Given the description of an element on the screen output the (x, y) to click on. 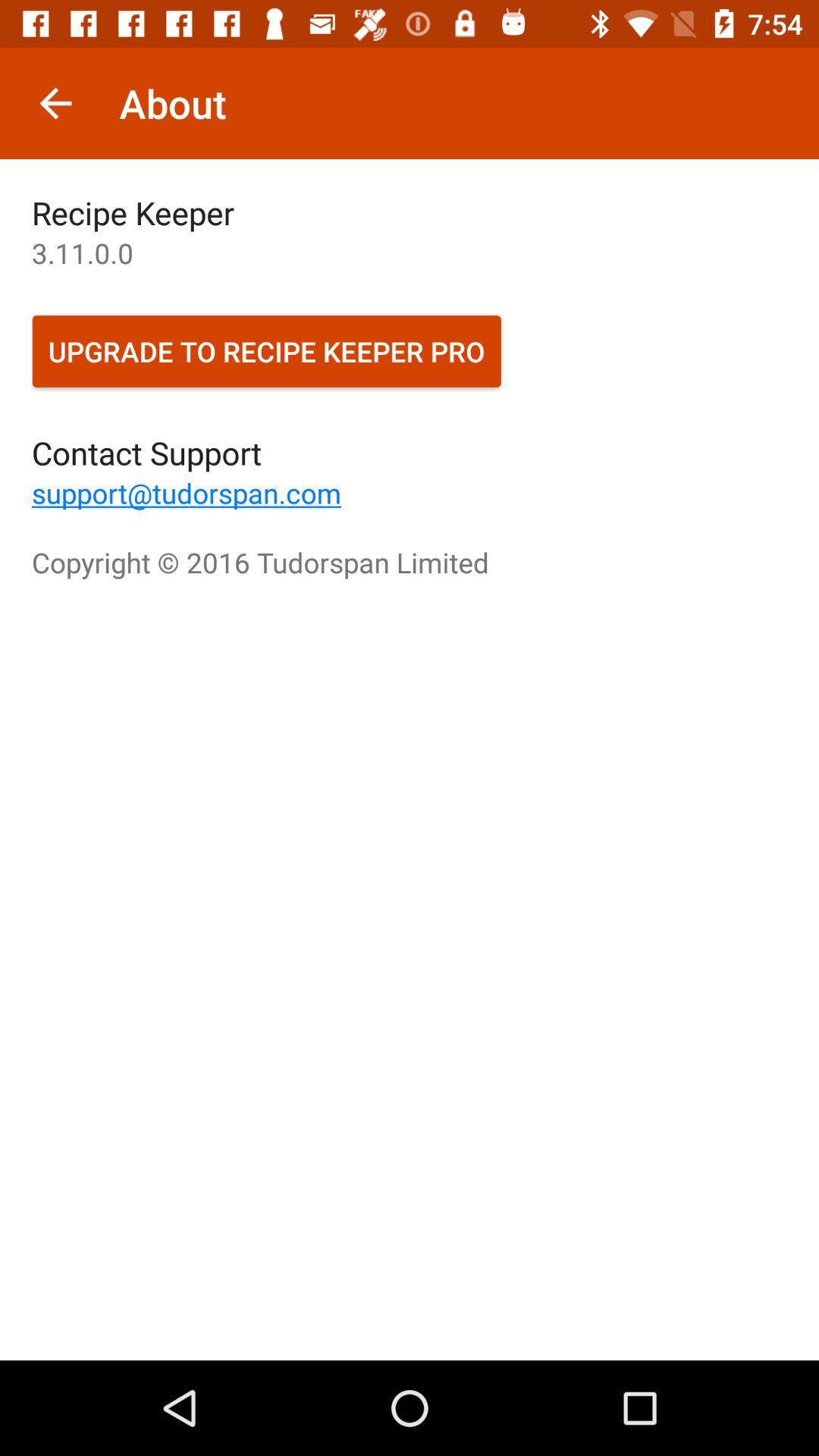
choose icon above the contact support icon (266, 351)
